Given the description of an element on the screen output the (x, y) to click on. 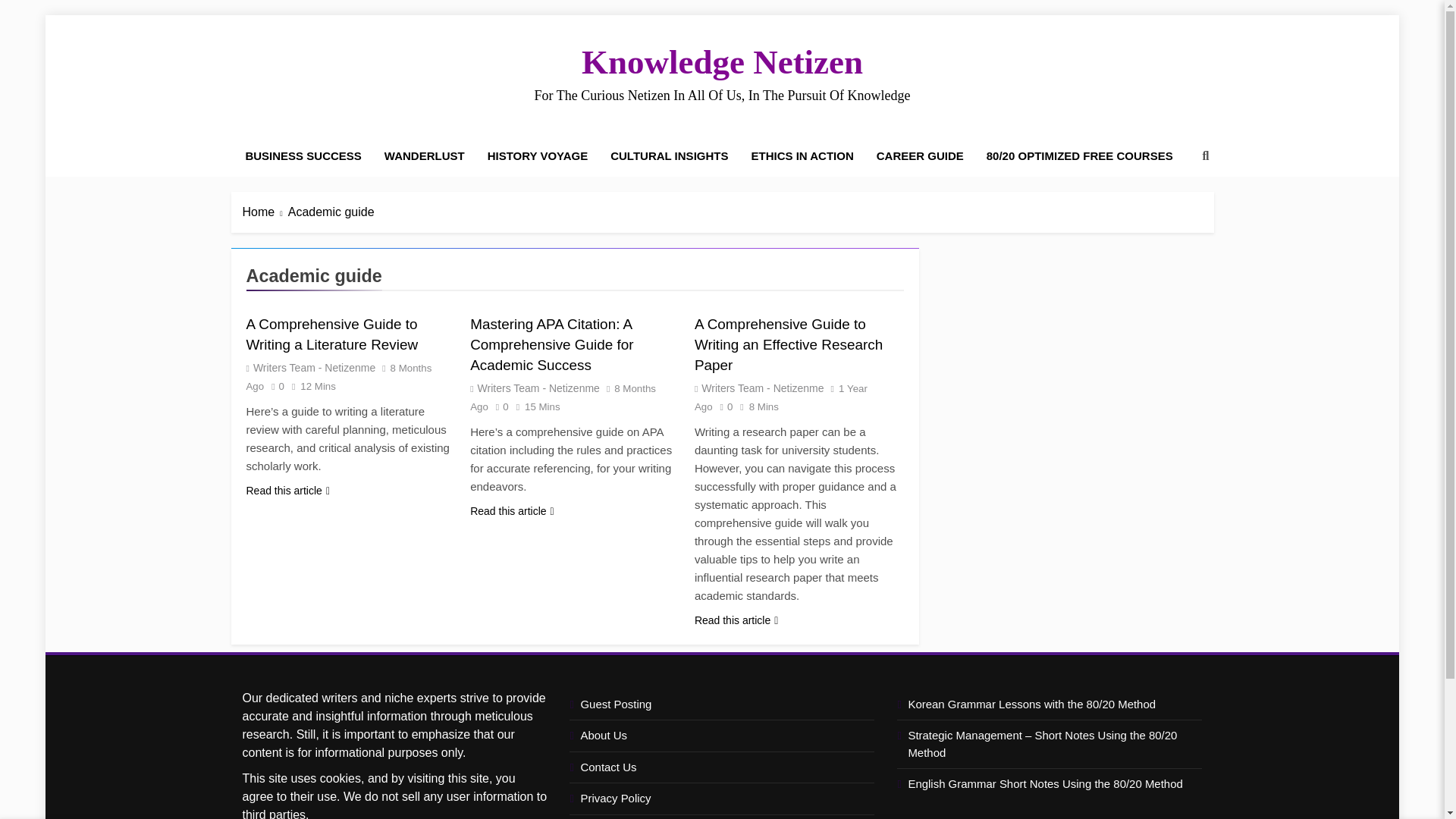
WANDERLUST (424, 155)
1 Year Ago (780, 397)
A Comprehensive Guide to Writing a Literature Review (331, 334)
0 (497, 405)
Read this article (736, 620)
ETHICS IN ACTION (801, 155)
A Comprehensive Guide to Writing an Effective Research Paper (788, 344)
BUSINESS SUCCESS (302, 155)
Read this article (512, 511)
Knowledge Netizen (721, 62)
0 (723, 405)
CAREER GUIDE (919, 155)
